Given the description of an element on the screen output the (x, y) to click on. 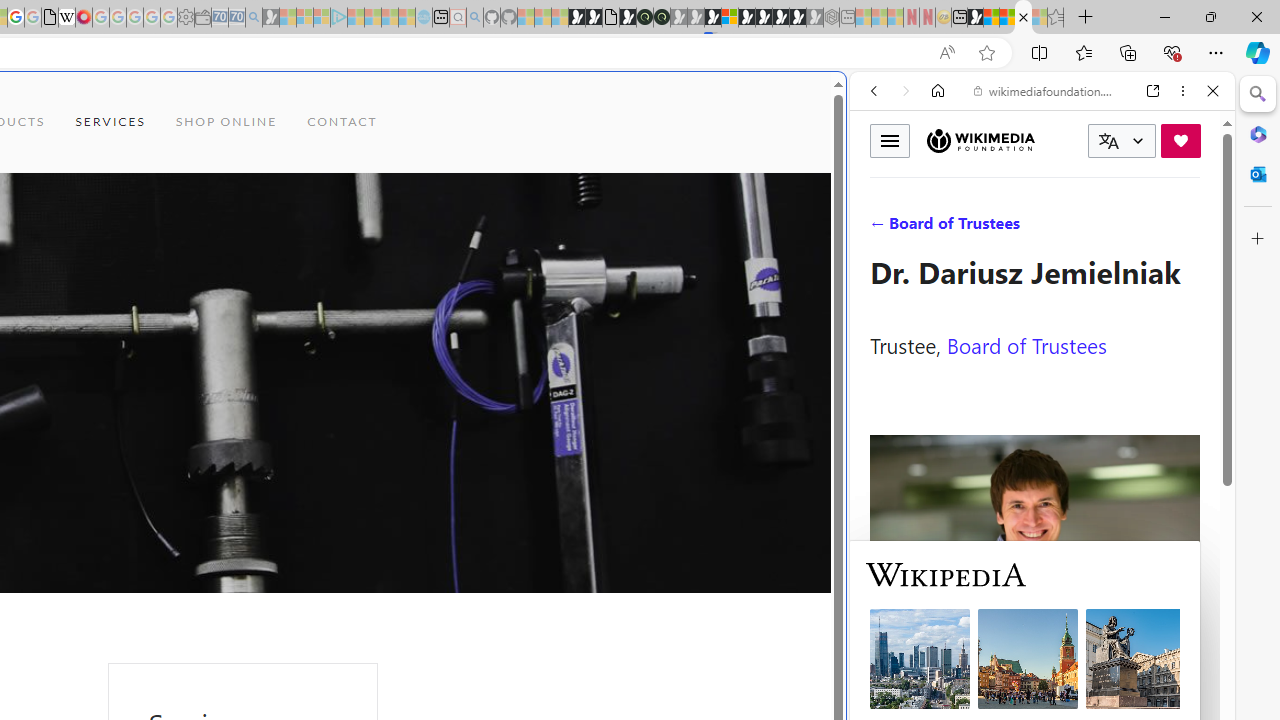
Services - Maintenance | Sky Blue Bikes - Sky Blue Bikes (1023, 17)
CURRENT LANGUAGE: (1121, 141)
Class: b_serphb (1190, 229)
SHOP ONLINE (226, 122)
Tabs you've opened (276, 265)
WEB   (882, 228)
Play Zoo Boom in your browser | Games from Microsoft Start (593, 17)
